Given the description of an element on the screen output the (x, y) to click on. 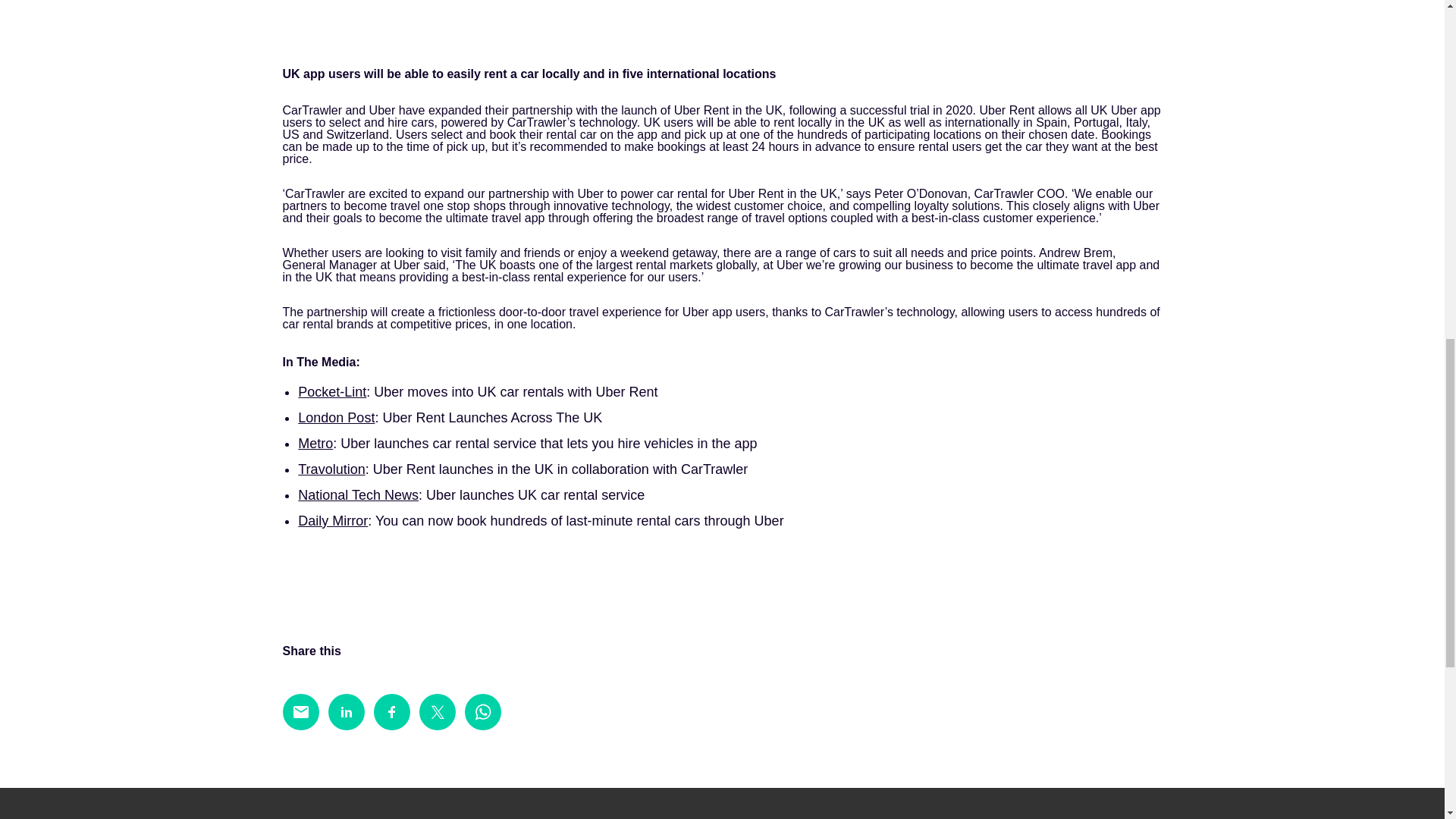
Travolution (331, 468)
Pocket-Lint (332, 391)
Metro (315, 443)
National Tech News (358, 494)
London Post (336, 417)
